Given the description of an element on the screen output the (x, y) to click on. 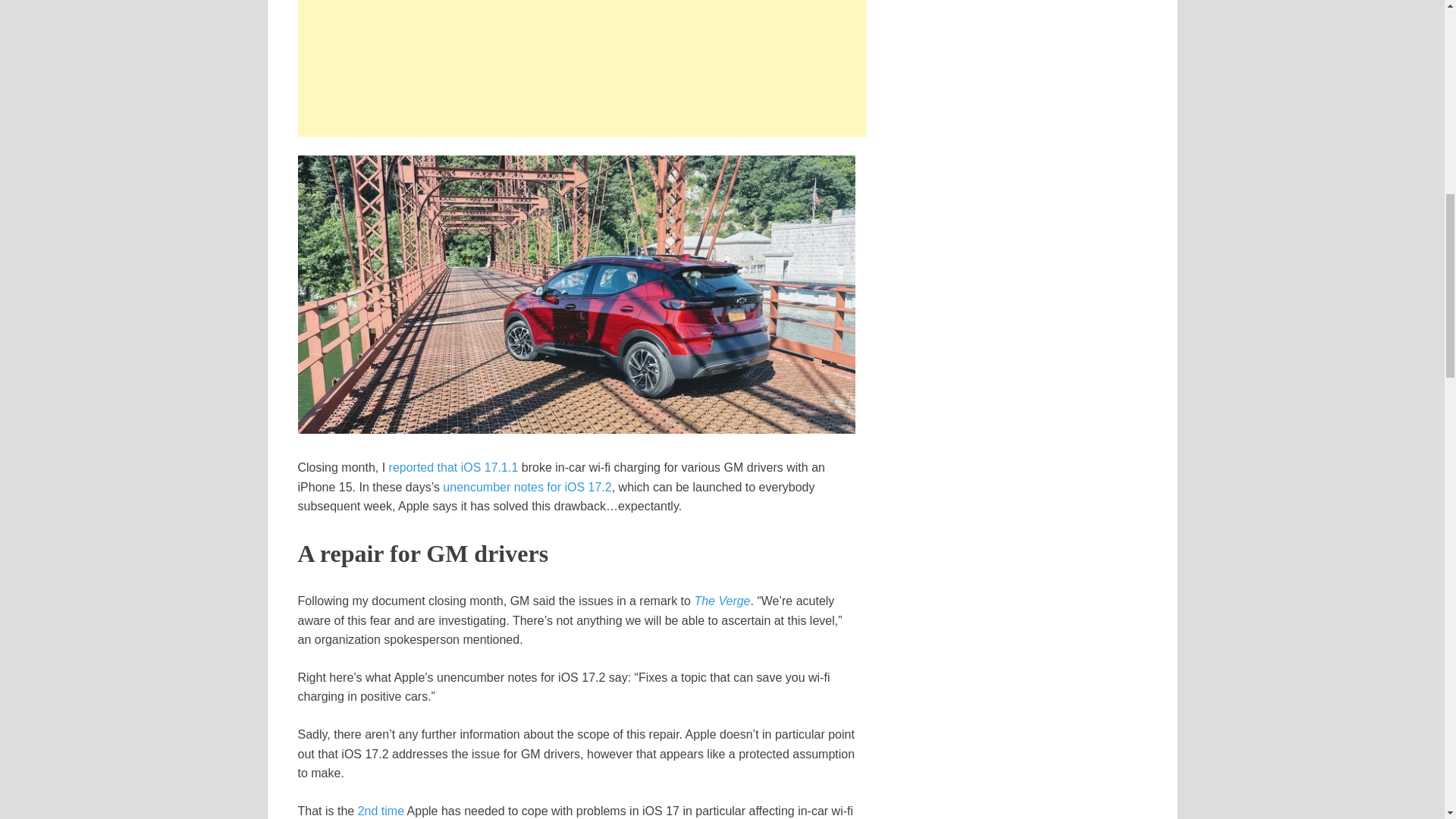
Advertisement (581, 68)
reported that iOS 17.1.1 (453, 467)
2nd time (381, 810)
The Verge (721, 600)
unencumber notes for iOS 17.2 (526, 486)
